Given the description of an element on the screen output the (x, y) to click on. 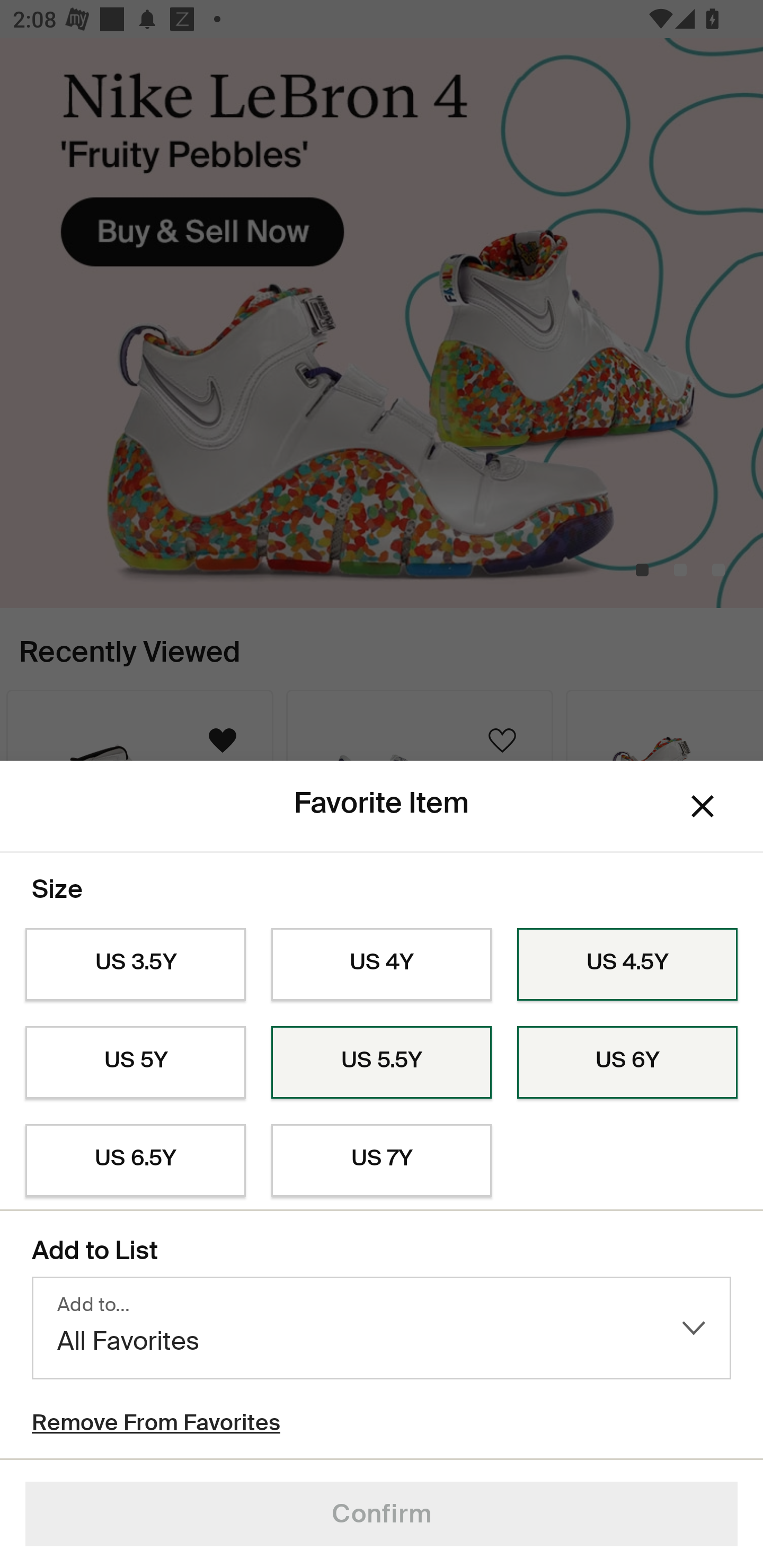
Dismiss (702, 806)
US 3.5Y (135, 964)
US 4Y (381, 964)
US 4.5Y (627, 964)
US 5Y (135, 1061)
US 5.5Y (381, 1061)
US 6Y (627, 1061)
US 6.5Y (135, 1160)
US 7Y (381, 1160)
Add to… All Favorites (381, 1327)
Remove From Favorites (156, 1424)
Confirm (381, 1513)
